Given the description of an element on the screen output the (x, y) to click on. 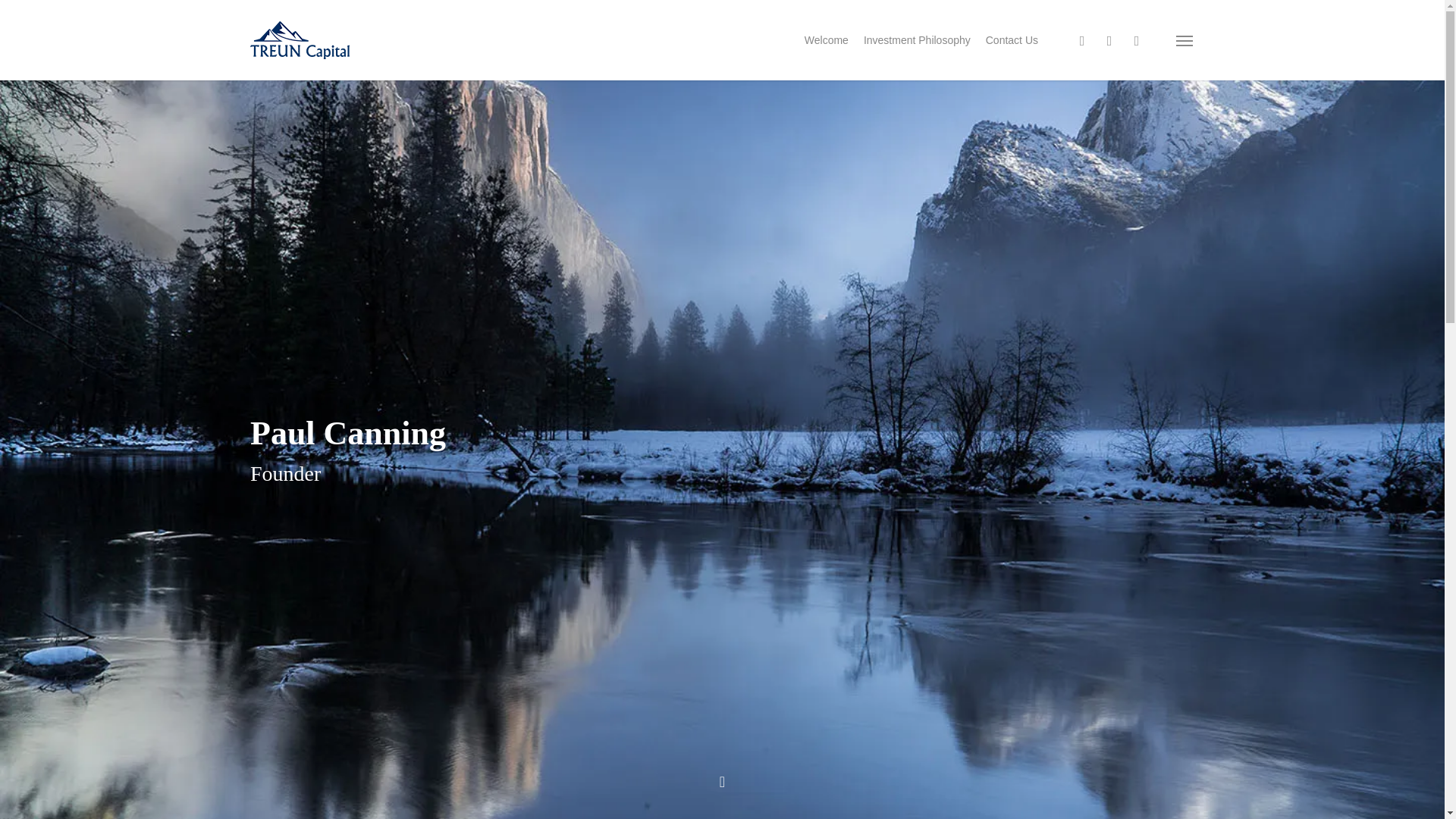
Menu (1184, 39)
TREUN Capital Offices (481, 615)
twitter (1082, 39)
TREUN Capital Terms and Conditions (481, 641)
email (1136, 39)
Welcome (826, 39)
How we use your data (481, 641)
Investment Philosophy (917, 39)
linkedin (1109, 39)
Contact Us (1011, 39)
TREUN Offices on Google Maps (481, 615)
